Given the description of an element on the screen output the (x, y) to click on. 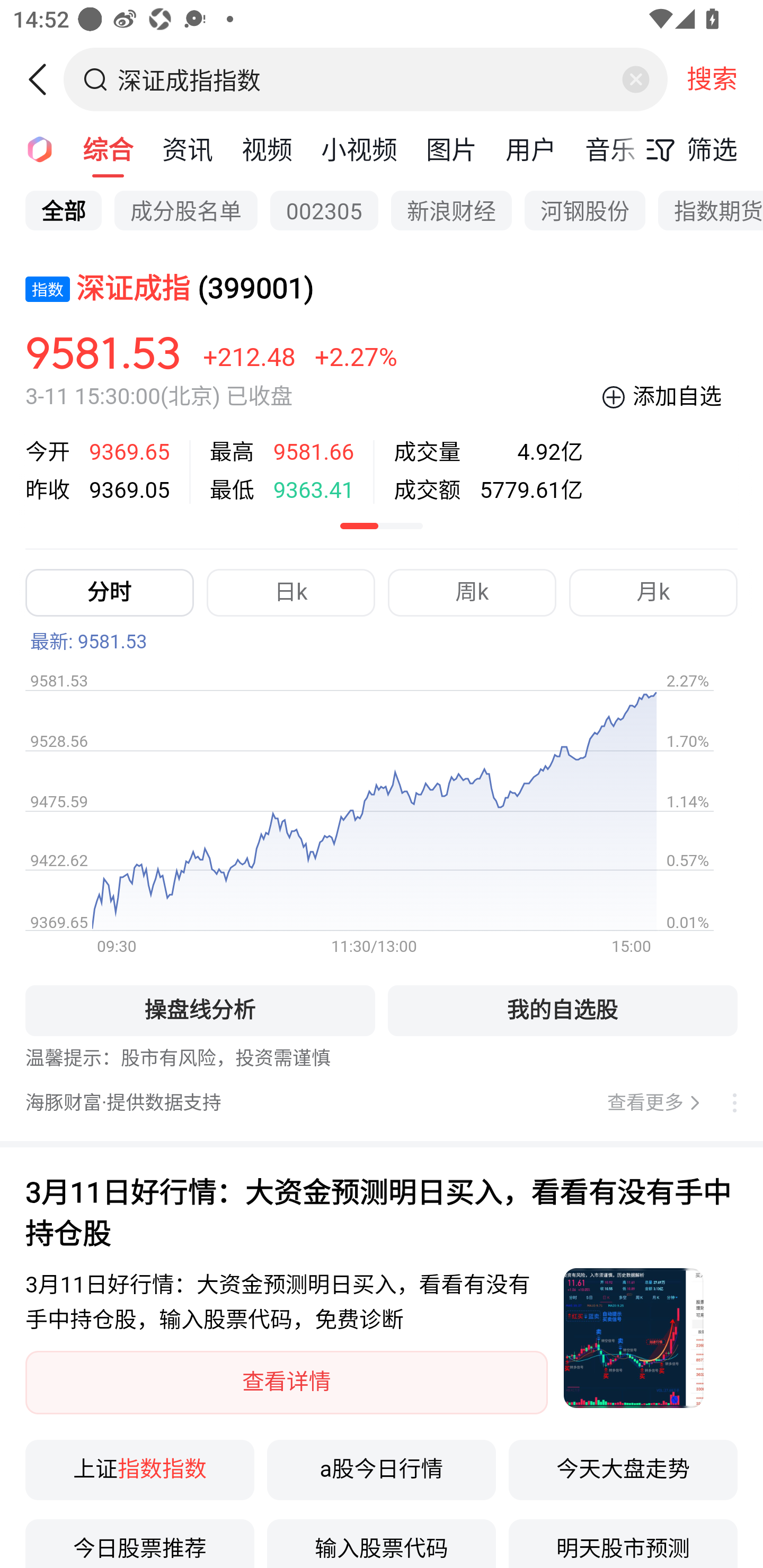
搜索框，深证成指指数 (366, 79)
搜索 (711, 79)
返回 (44, 79)
清除 (635, 79)
资讯 (187, 148)
视频 (266, 148)
小视频 (359, 148)
图片 (451, 148)
用户 (530, 148)
音乐 (610, 148)
筛选 (686, 149)
AI问答 (34, 148)
全部 (63, 210)
成分股名单 (185, 210)
002305 (324, 210)
新浪财经 (450, 210)
河钢股份 (584, 210)
指数期货 (710, 210)
指数 深证成指 (399001) (169, 289)
price change (381, 355)
3-11 15:30:00(北京) 已收盘 (159, 395)
添加自选 (659, 397)
分时 (109, 592)
日k (290, 592)
周k (471, 592)
月k (653, 592)
操盘线分析 (200, 1010)
我的自选股 (562, 1010)
查看更多 (644, 1101)
举报反馈 (724, 1101)
3月11日好行情：大资金预测明日买入，看看有没有手中持仓股，输入股票代码，免费诊断 (286, 1303)
查看详情 (286, 1382)
上证指数指数 (139, 1470)
a股今日行情 (381, 1470)
今天大盘走势 (622, 1470)
今日股票推荐 (139, 1543)
输入股票代码 (381, 1543)
明天股市预测 (622, 1543)
